Given the description of an element on the screen output the (x, y) to click on. 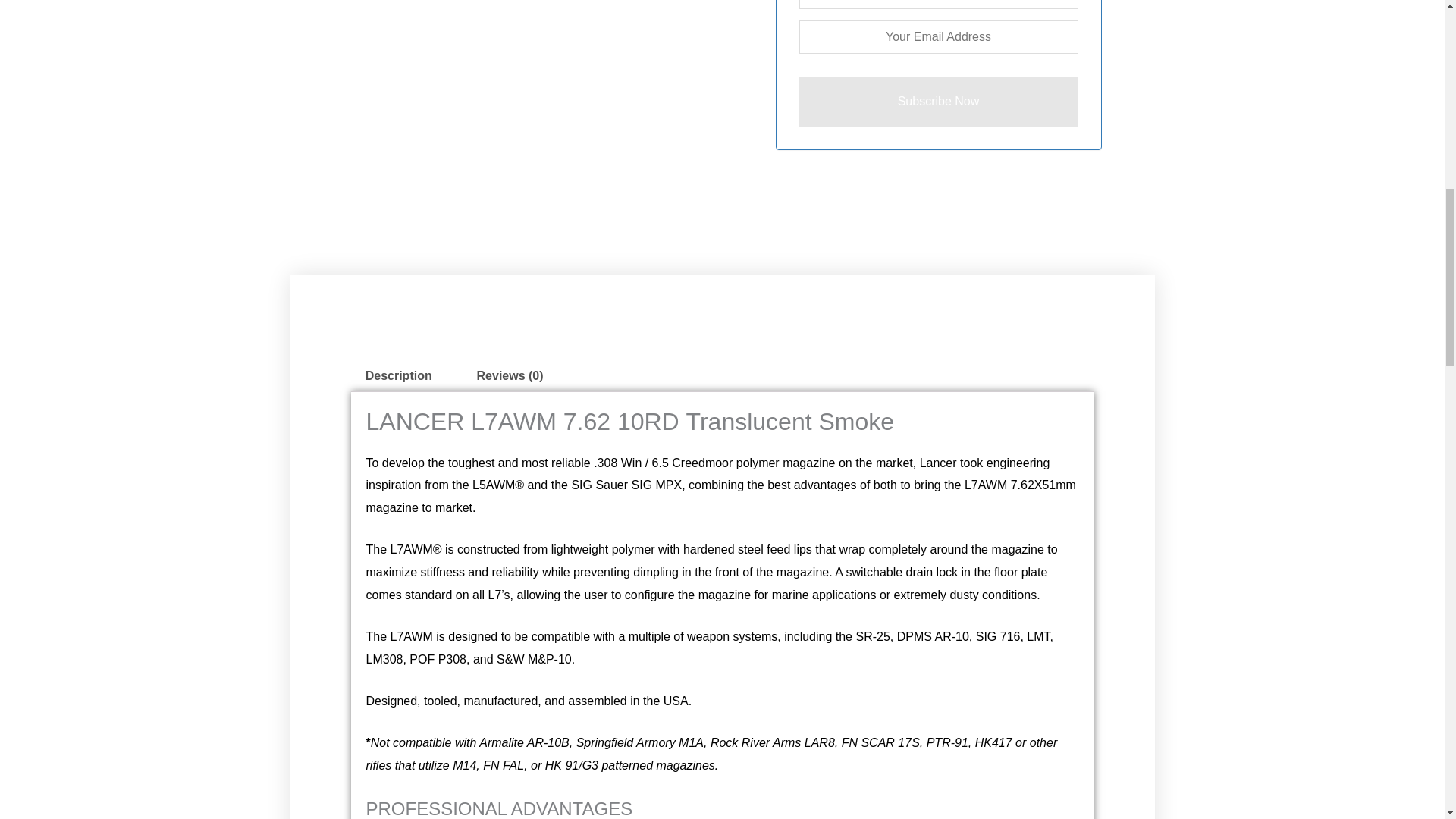
Subscribe Now (938, 101)
